Given the description of an element on the screen output the (x, y) to click on. 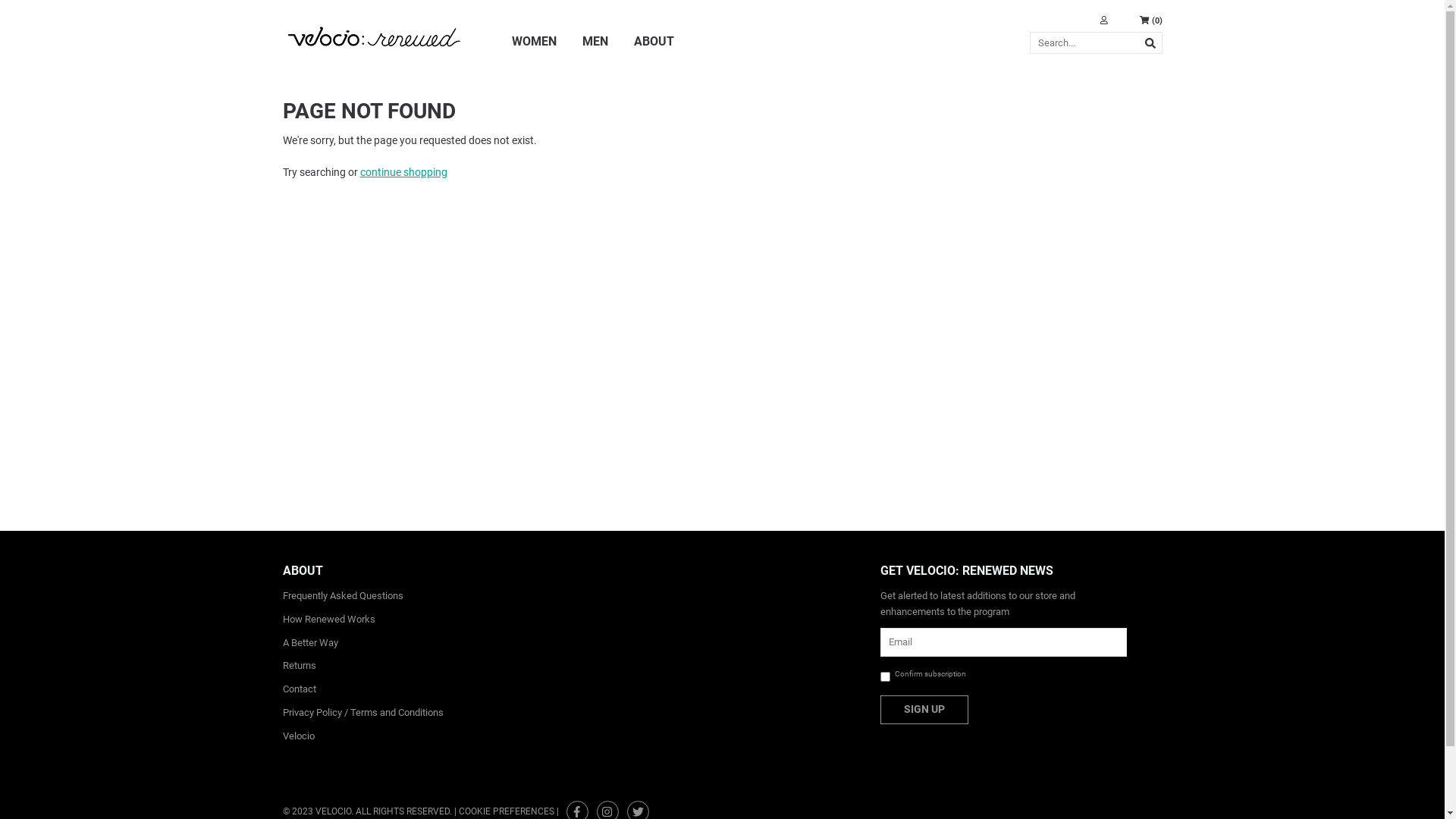
continue shopping Element type: text (402, 172)
A Better Way Element type: text (309, 642)
MEN Element type: text (595, 50)
Returns Element type: text (298, 665)
ABOUT Element type: text (653, 50)
Sign in Element type: hover (1104, 20)
Contact Element type: text (298, 688)
Privacy Policy / Terms and Conditions Element type: text (362, 712)
Frequently Asked Questions Element type: text (342, 595)
Velocio Renewed Element type: hover (373, 29)
Velocio Element type: text (297, 735)
How Renewed Works Element type: text (328, 618)
(0) Element type: text (1150, 20)
sign up Element type: text (924, 708)
COOKIE PREFERENCES Element type: text (505, 811)
WOMEN Element type: text (533, 50)
